Given the description of an element on the screen output the (x, y) to click on. 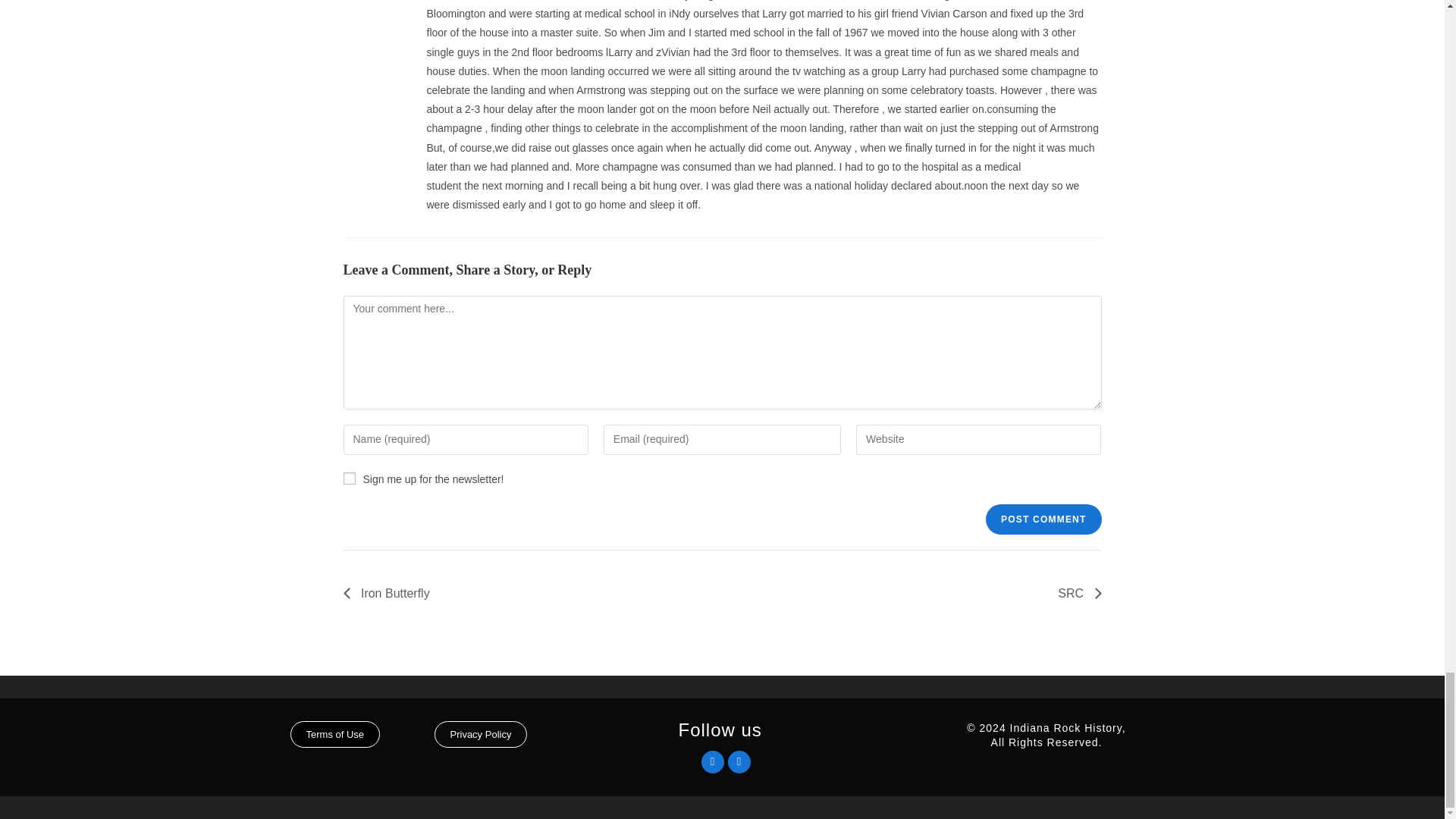
Terms of Use (334, 734)
Post Comment (1042, 519)
Privacy Policy (480, 734)
Post Comment (1042, 519)
SRC (1074, 593)
1 (348, 478)
Iron Butterfly (390, 593)
